Given the description of an element on the screen output the (x, y) to click on. 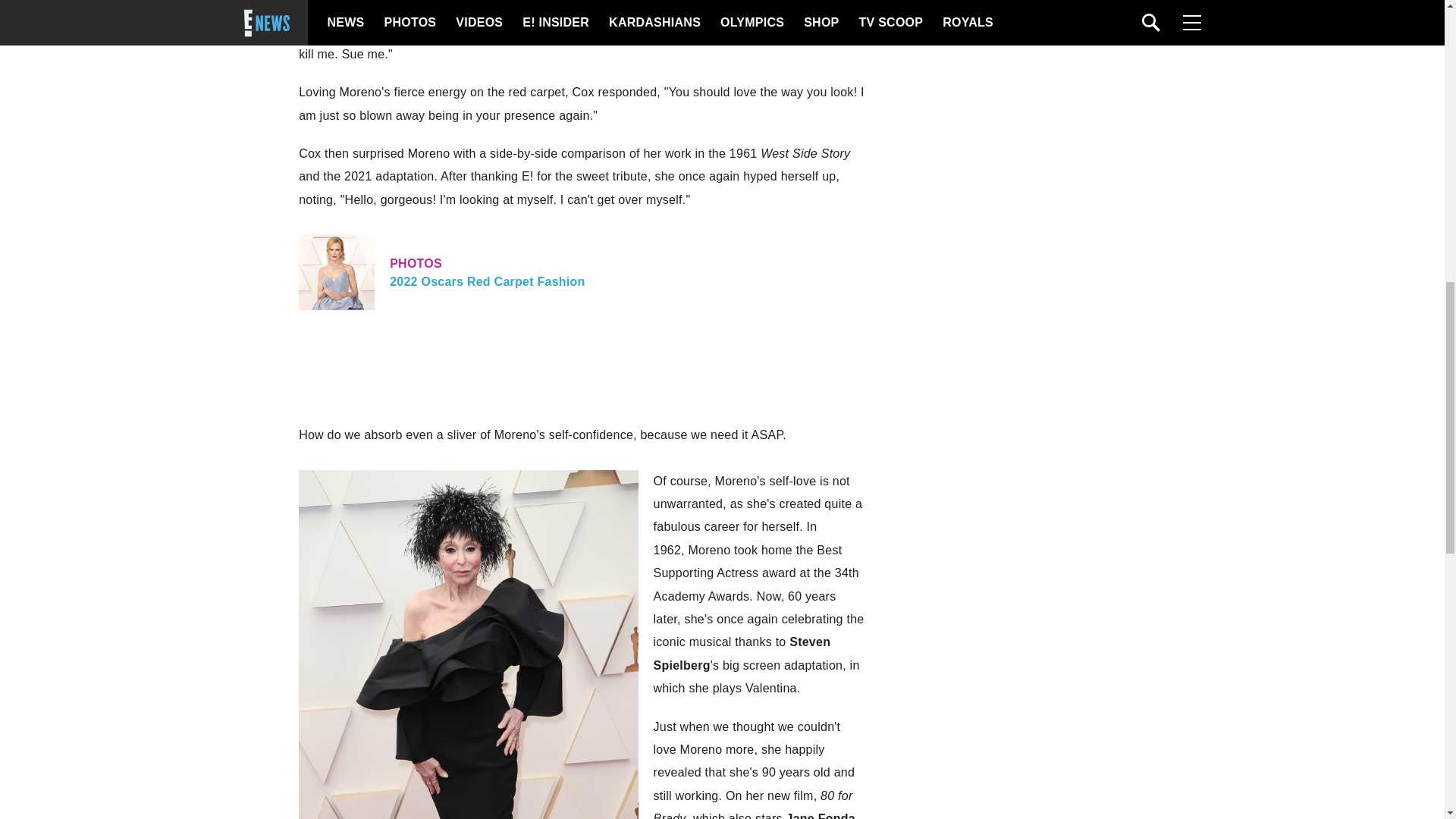
I just love the way I look (581, 272)
